Given the description of an element on the screen output the (x, y) to click on. 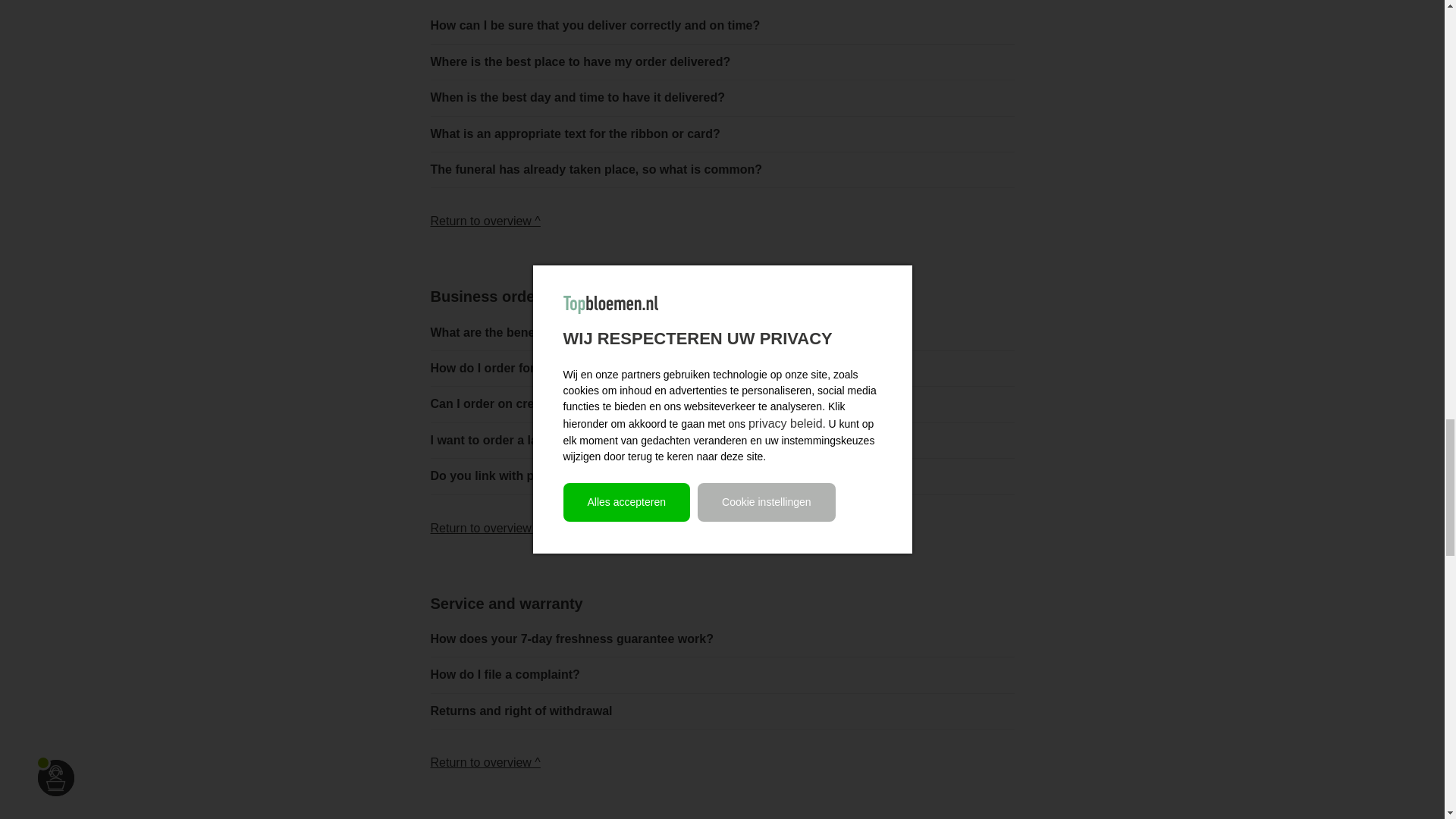
Verder zoeken (485, 762)
Verder zoeken (485, 220)
Verder zoeken (485, 527)
